Given the description of an element on the screen output the (x, y) to click on. 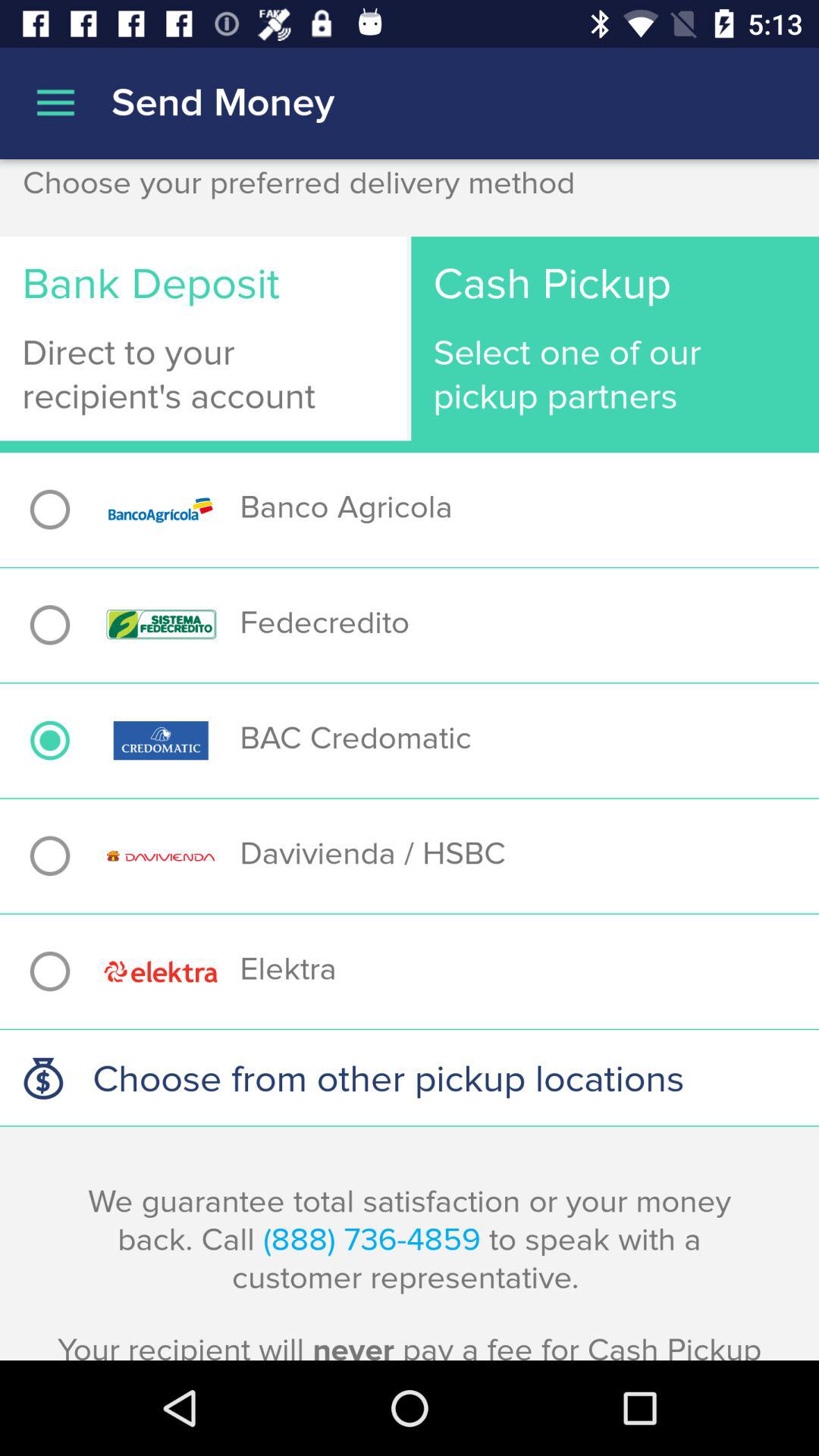
flip to the choose from other (409, 1077)
